Given the description of an element on the screen output the (x, y) to click on. 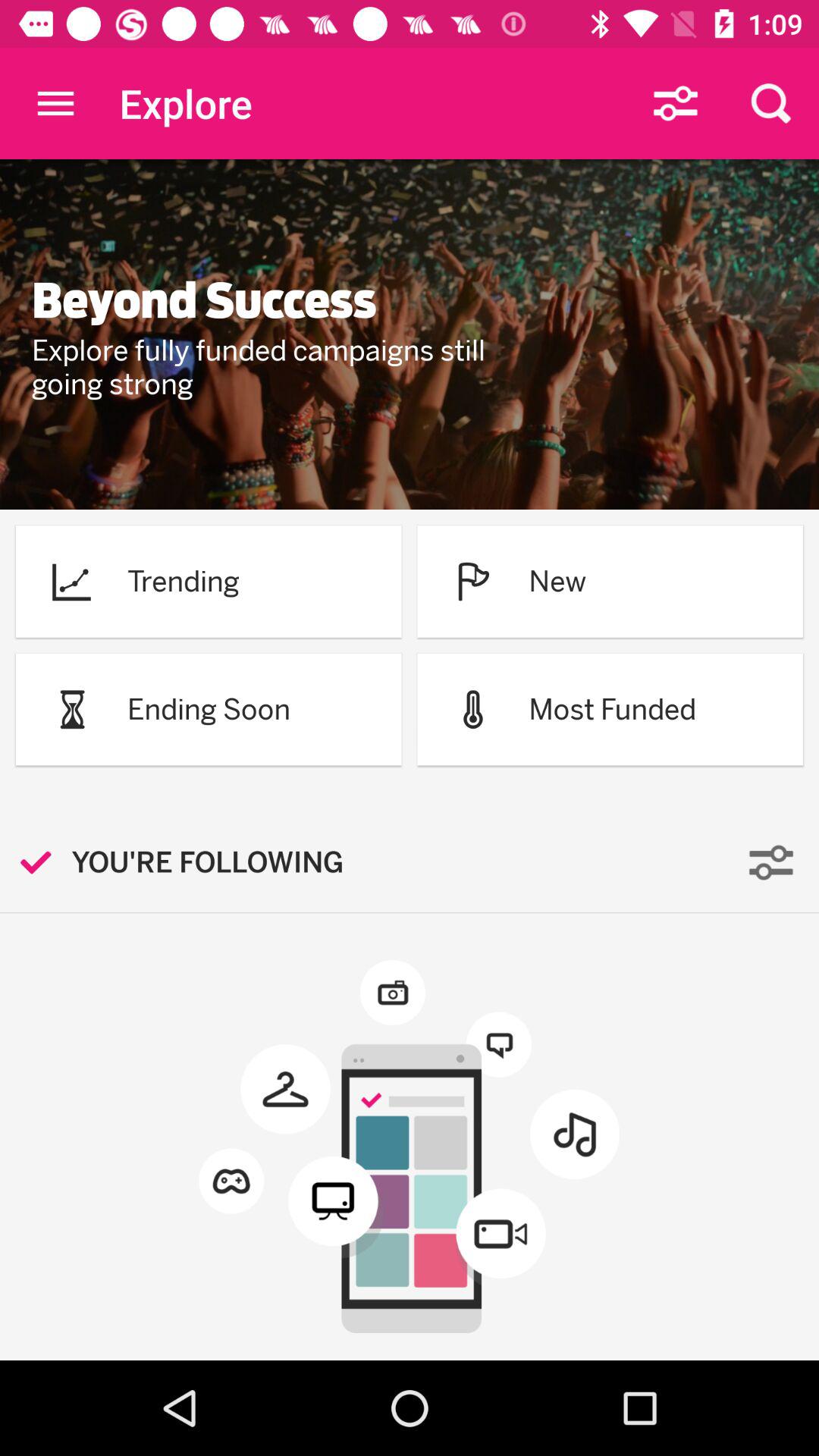
choose the icon to the left of the explore item (55, 103)
